Given the description of an element on the screen output the (x, y) to click on. 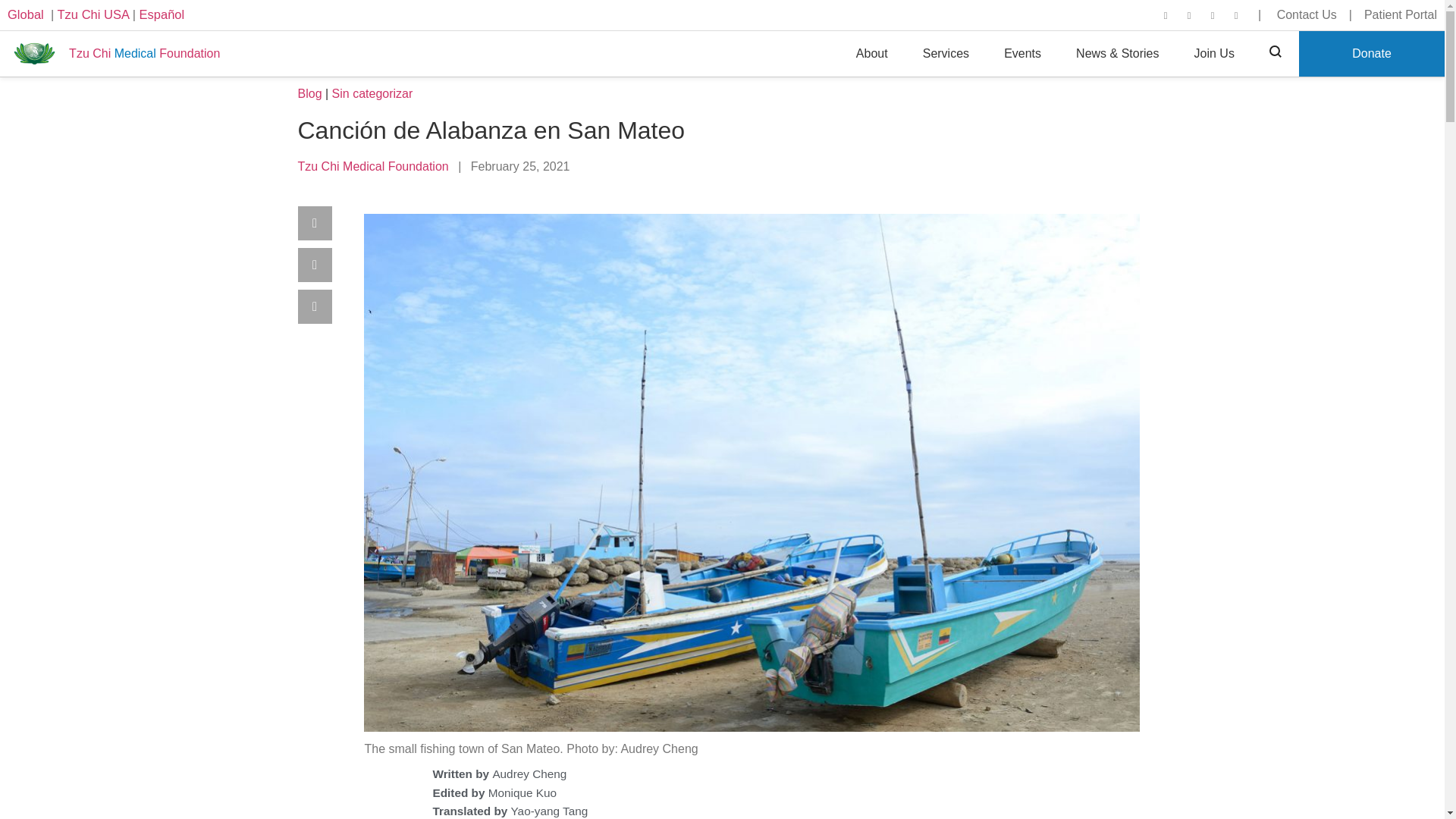
Tzu Chi Medical Foundation (118, 53)
Services (946, 53)
Events (1022, 53)
Patient Portal (1394, 14)
About (871, 53)
Tzu Chi USA (93, 14)
Join Us (1214, 53)
Global (25, 14)
